Given the description of an element on the screen output the (x, y) to click on. 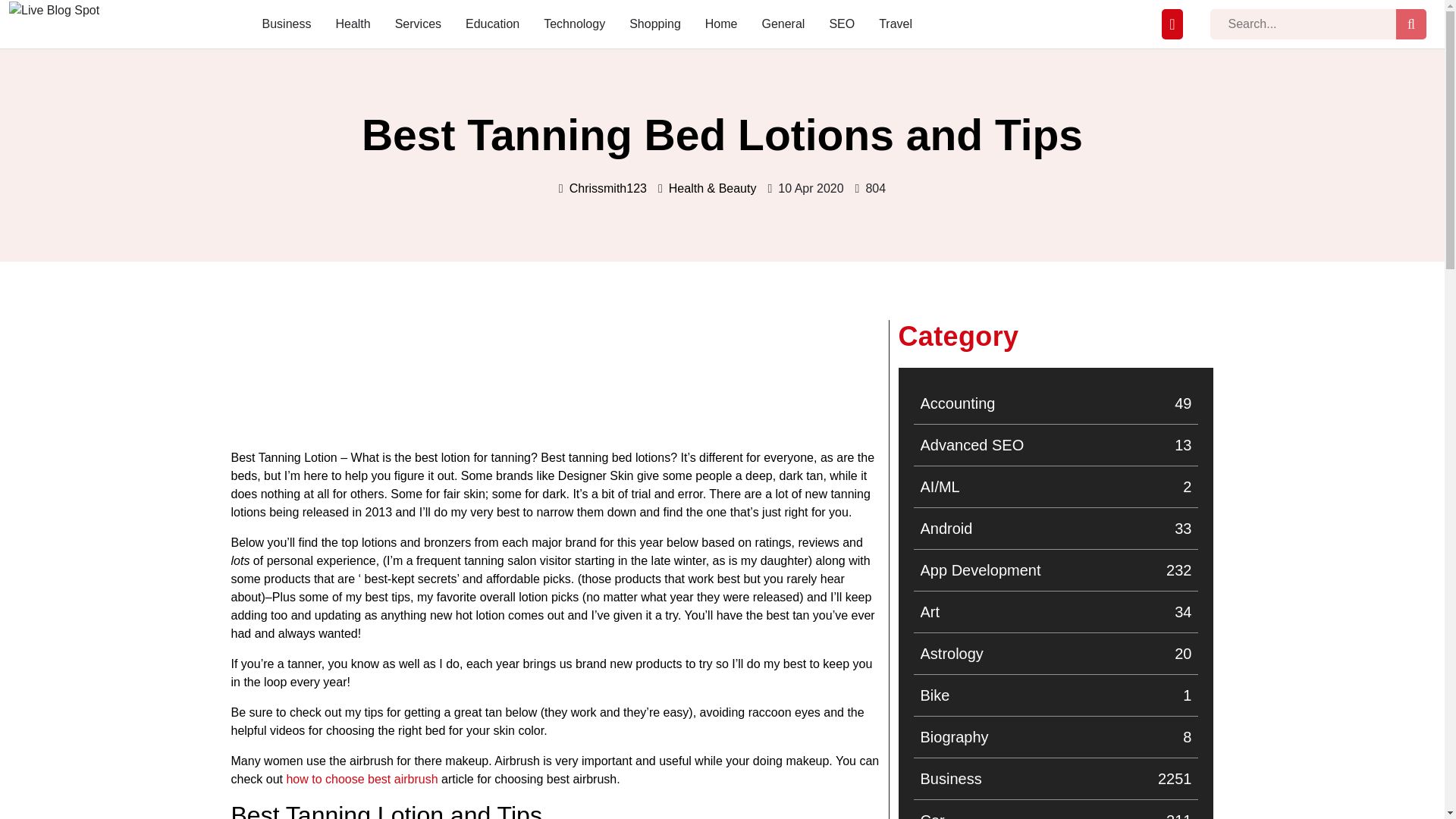
General (1056, 694)
how to choose best airbrush (783, 24)
Education (1056, 814)
Shopping (361, 684)
How to Choose Best Airbrush (1056, 527)
